Given the description of an element on the screen output the (x, y) to click on. 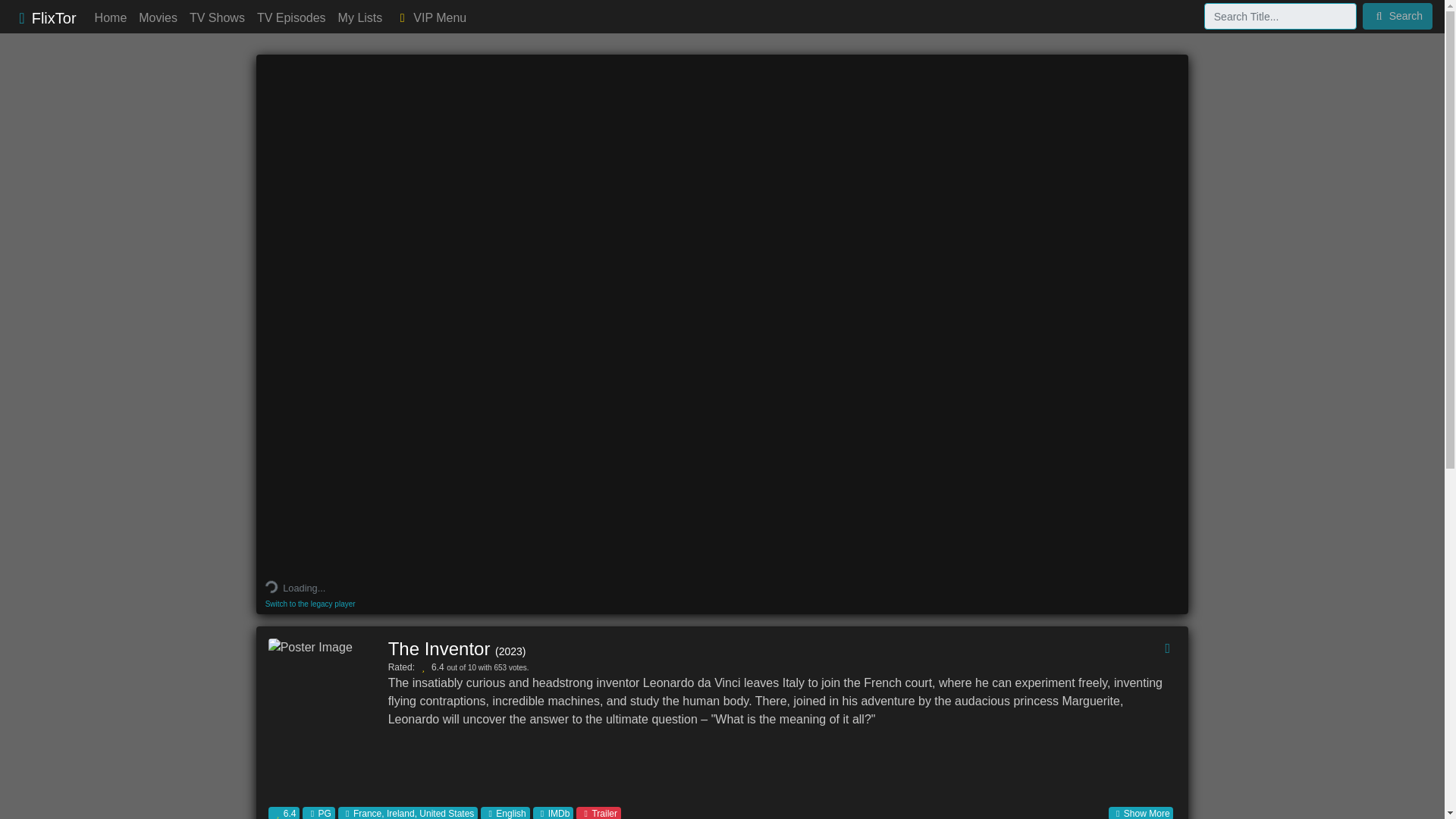
Movies (157, 18)
My Lists (359, 18)
IMDb (552, 812)
US Content Rating (318, 812)
Show More (1140, 812)
TV Episodes (290, 18)
Open IMDb (552, 812)
VIP Menu (429, 18)
Search (1397, 16)
Home (110, 18)
